Given the description of an element on the screen output the (x, y) to click on. 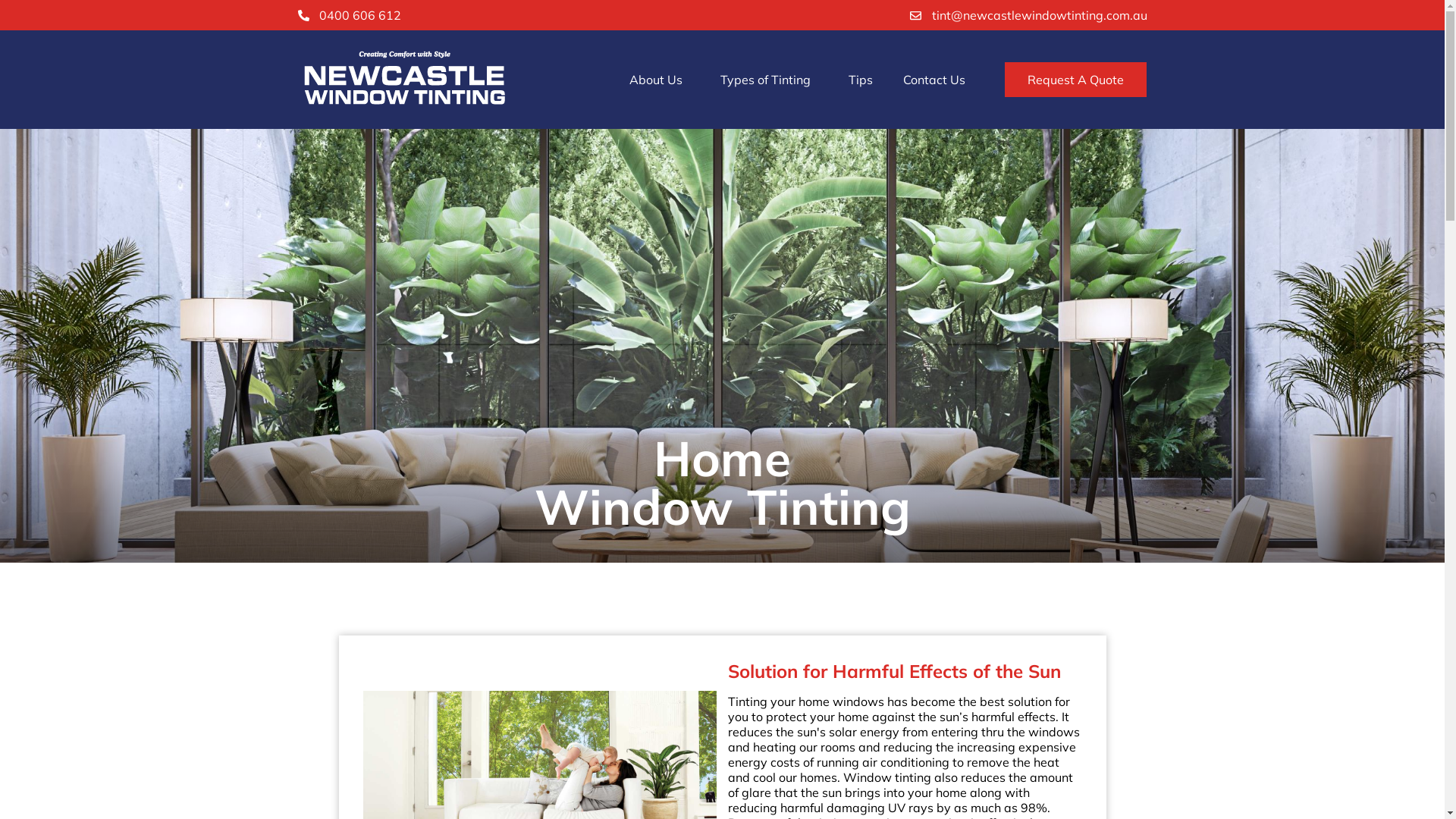
About Us Element type: text (659, 79)
tint@newcastlewindowtinting.com.au Element type: text (1028, 14)
Types of Tinting Element type: text (769, 79)
Request A Quote Element type: text (1075, 79)
Contact Us Element type: text (934, 79)
0400 606 612 Element type: text (349, 14)
Tips Element type: text (860, 79)
